Given the description of an element on the screen output the (x, y) to click on. 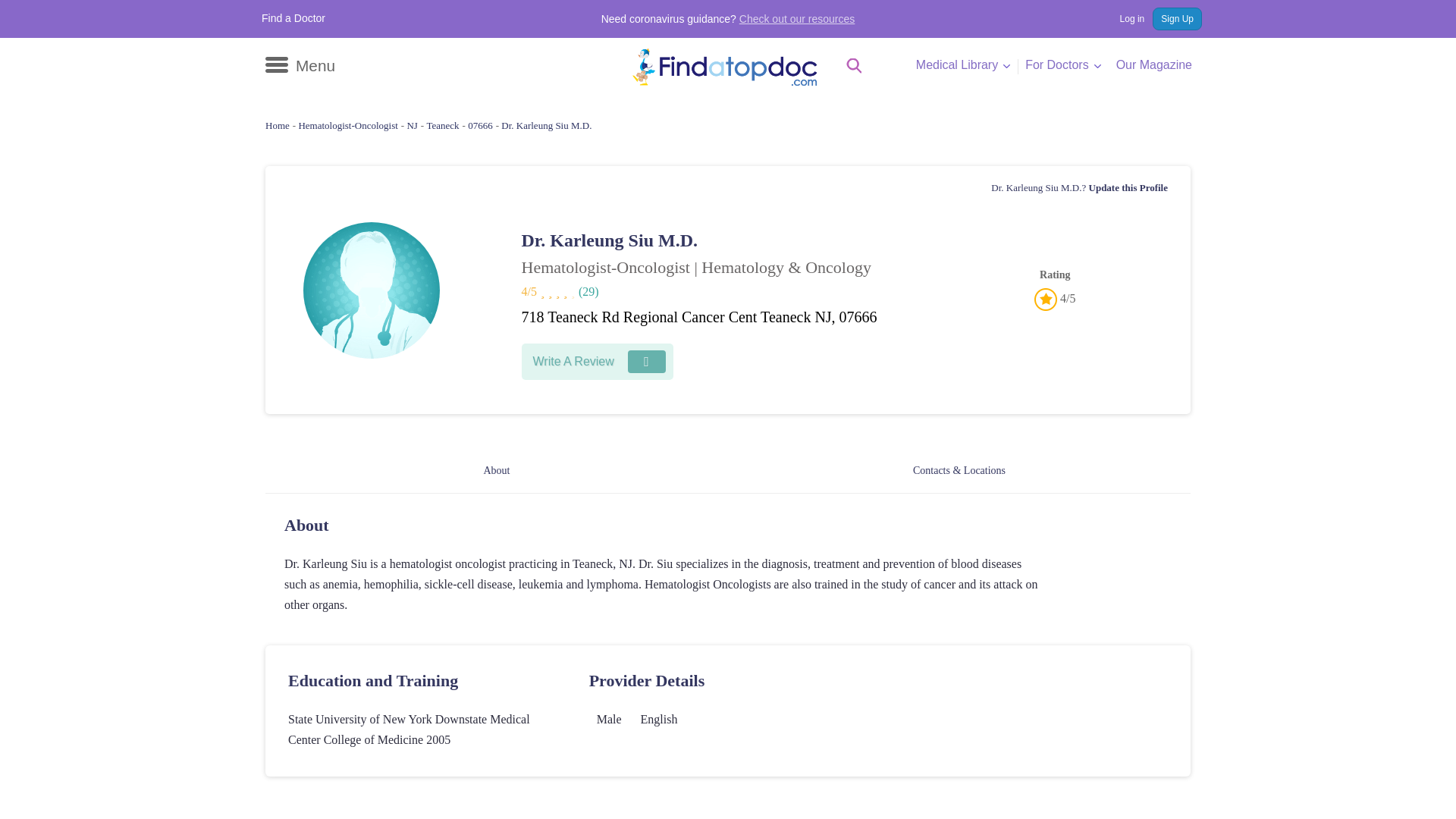
Log in (1118, 18)
Find a Doctor (287, 17)
Check out our resources (790, 19)
Sign Up (1171, 18)
Menu (294, 65)
Sign Up (1171, 18)
Log in (1118, 18)
